Given the description of an element on the screen output the (x, y) to click on. 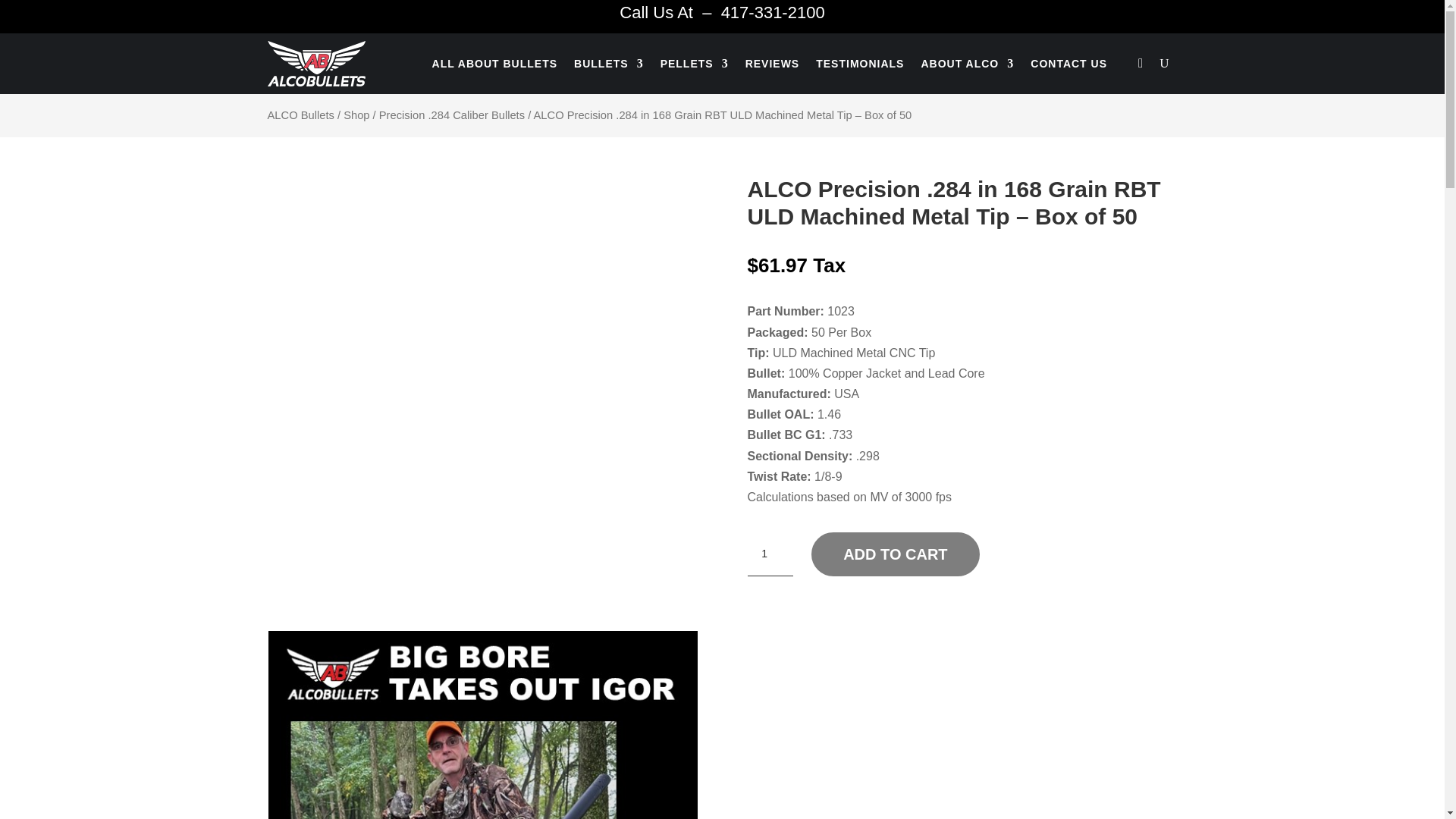
CONTACT US (1068, 63)
TESTIMONIALS (859, 63)
1 (770, 554)
ALCO Bullets (299, 114)
Precision .284 Caliber Bullets (451, 114)
BULLETS (608, 63)
ALL ABOUT BULLETS (494, 63)
ABOUT ALCO (966, 63)
Shop (356, 114)
ADD TO CART (894, 554)
